Given the description of an element on the screen output the (x, y) to click on. 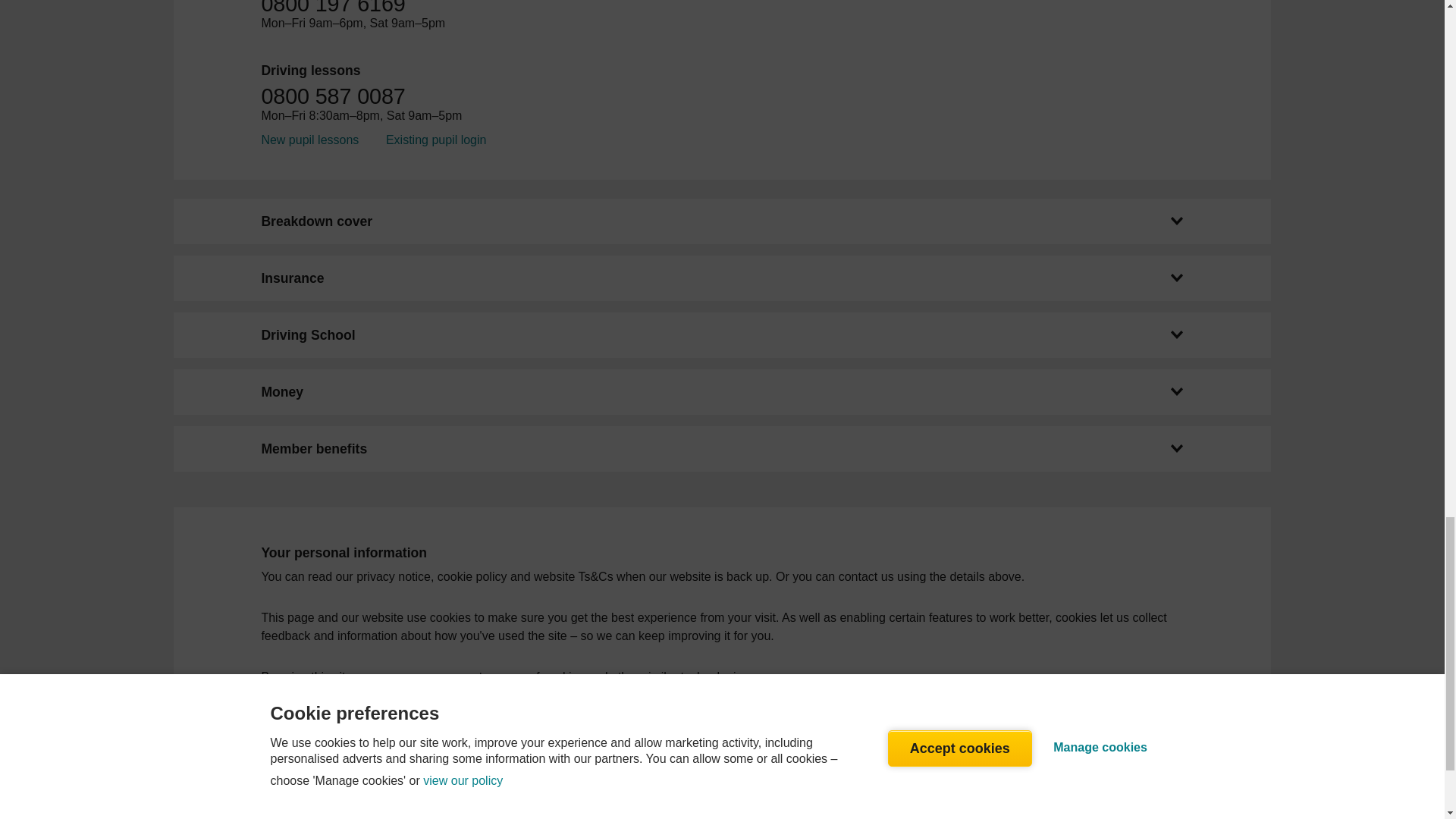
Existing pupil login (435, 140)
New pupil lessons (309, 140)
